Given the description of an element on the screen output the (x, y) to click on. 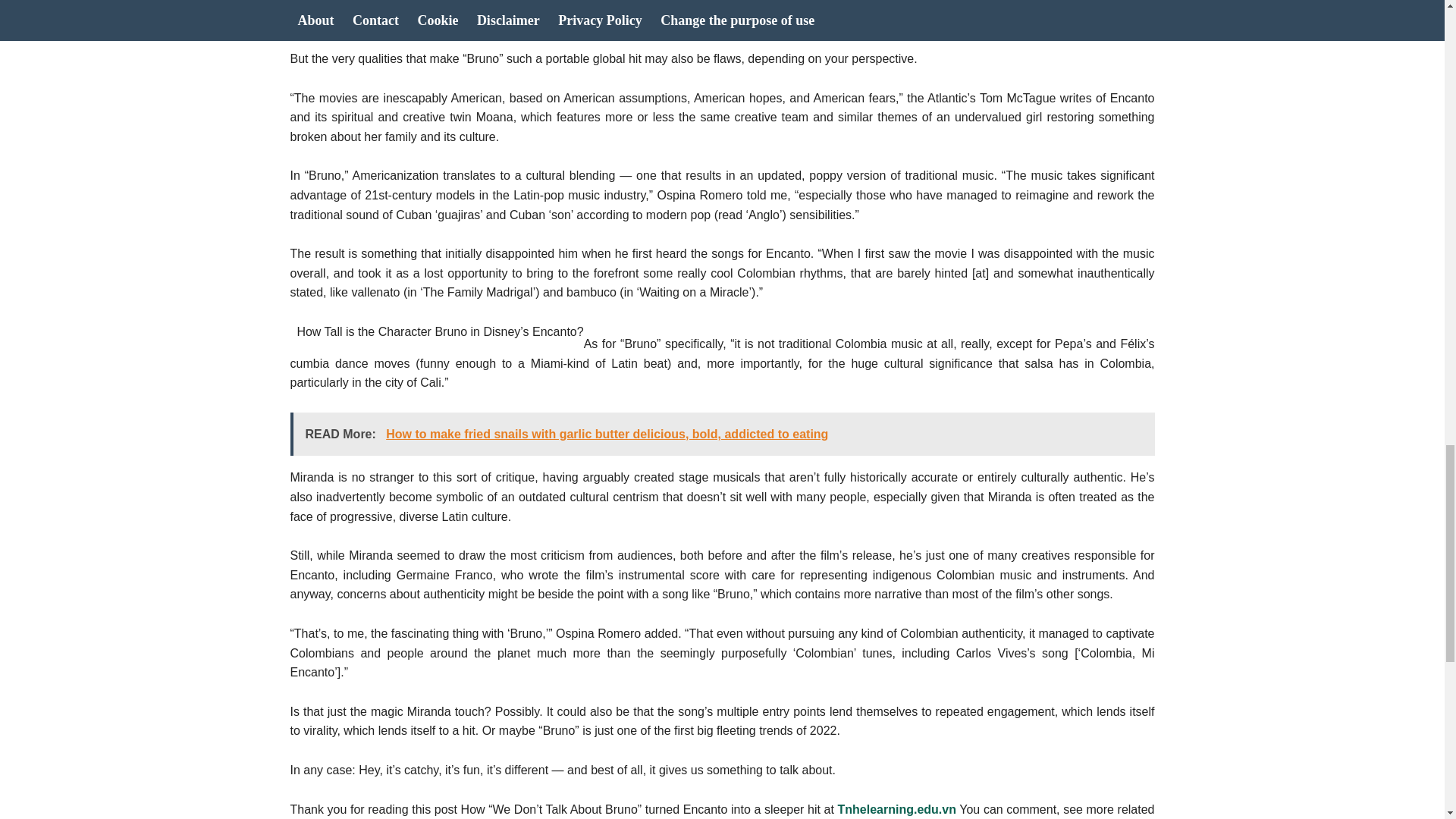
Tnhelearning.edu.vn (896, 809)
READ More:   How to Get Free Testnet Token on Rinkeby (721, 15)
